Given the description of an element on the screen output the (x, y) to click on. 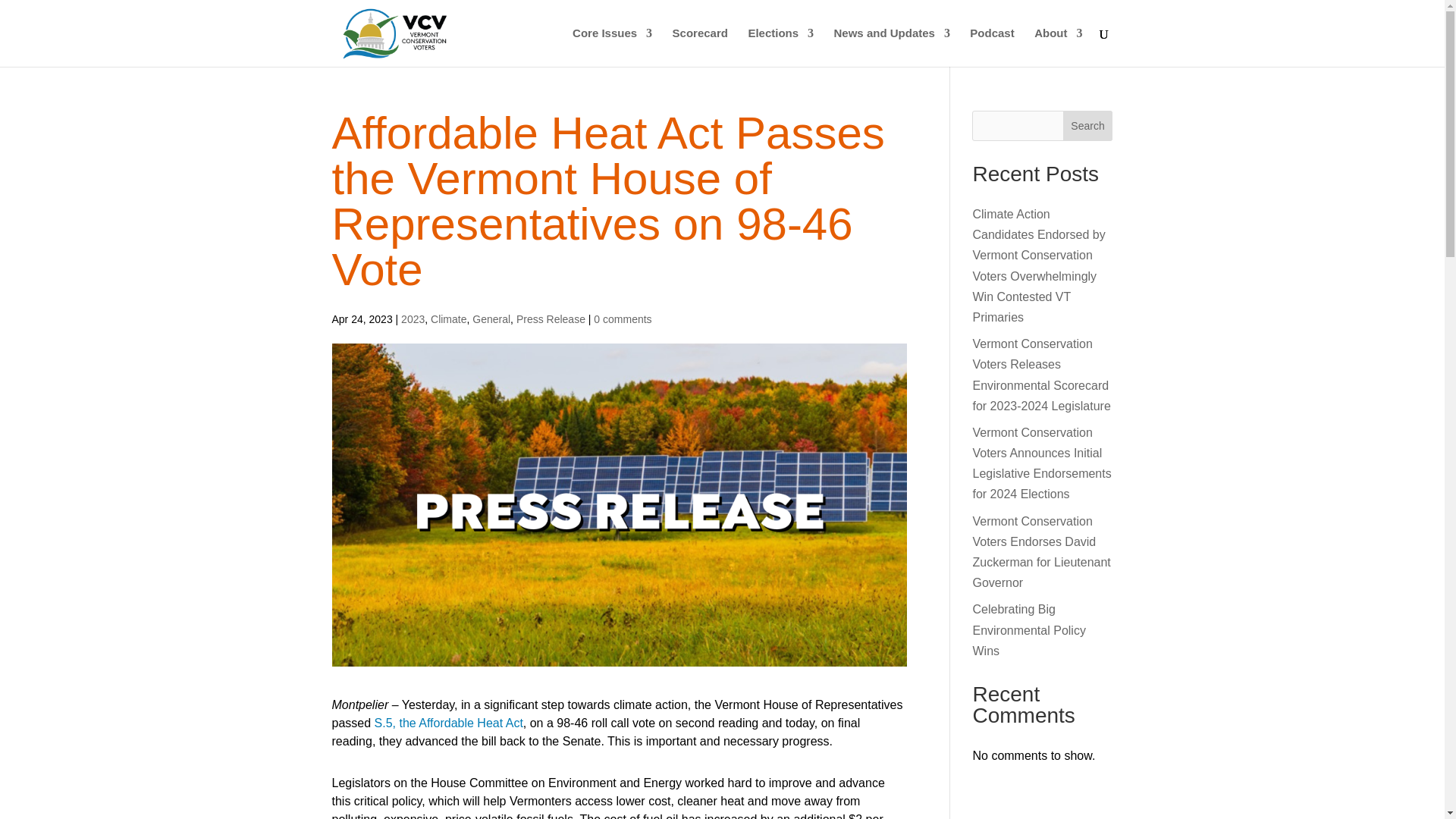
General (491, 318)
Climate (447, 318)
Core Issues (612, 46)
Podcast (991, 46)
Elections (780, 46)
About (1057, 46)
Press Release (550, 318)
0 comments (622, 318)
Scorecard (700, 46)
News and Updates (892, 46)
